Given the description of an element on the screen output the (x, y) to click on. 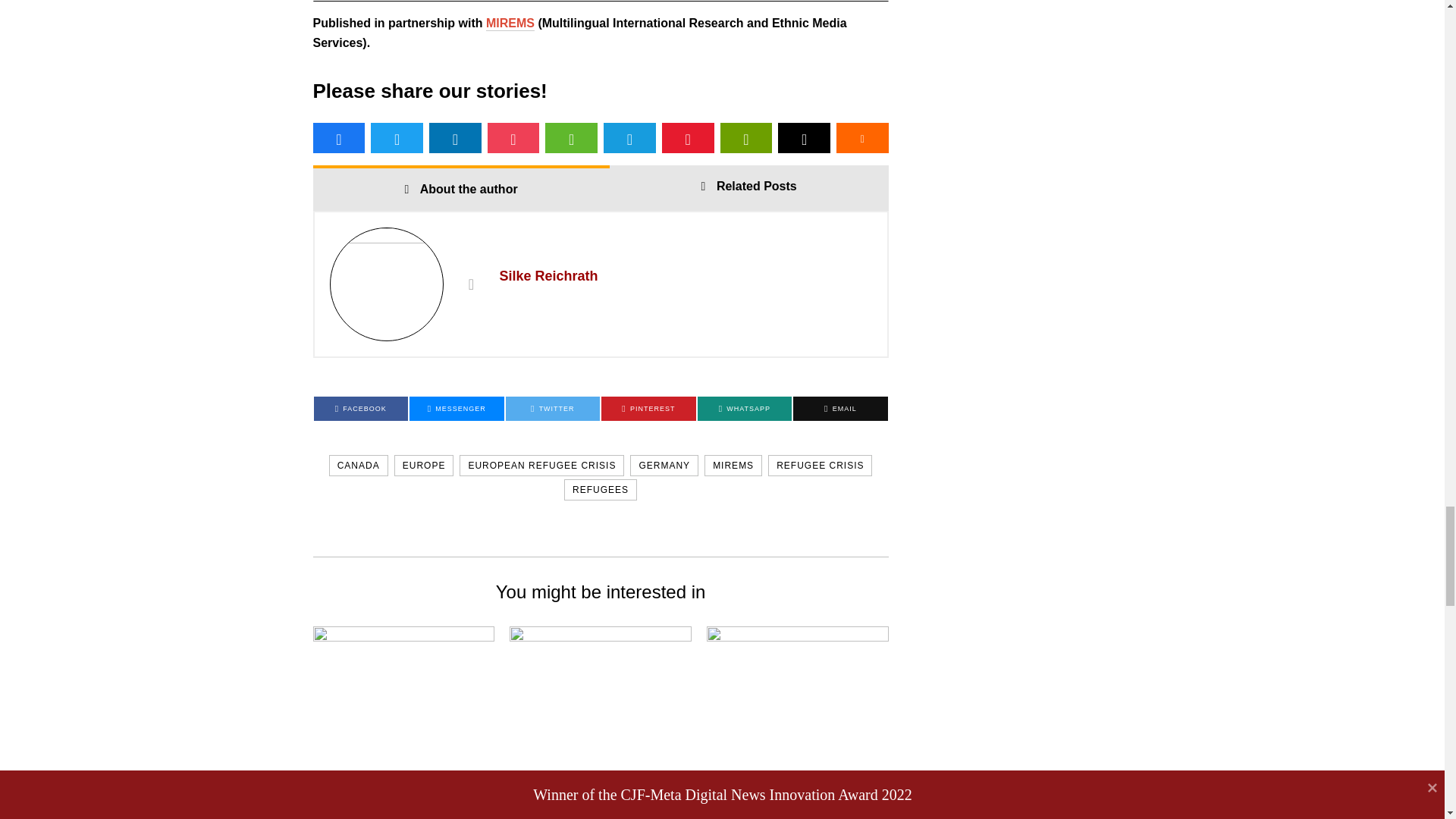
MIREMS (510, 22)
Convert to PDF (688, 137)
Email this  (803, 137)
Share this on Facebook (339, 137)
Submit this to Pocket (513, 137)
Add this to LinkedIn (455, 137)
Print this article  (746, 137)
Telegram (630, 137)
Tweet this ! (397, 137)
WhatsApp (570, 137)
